Given the description of an element on the screen output the (x, y) to click on. 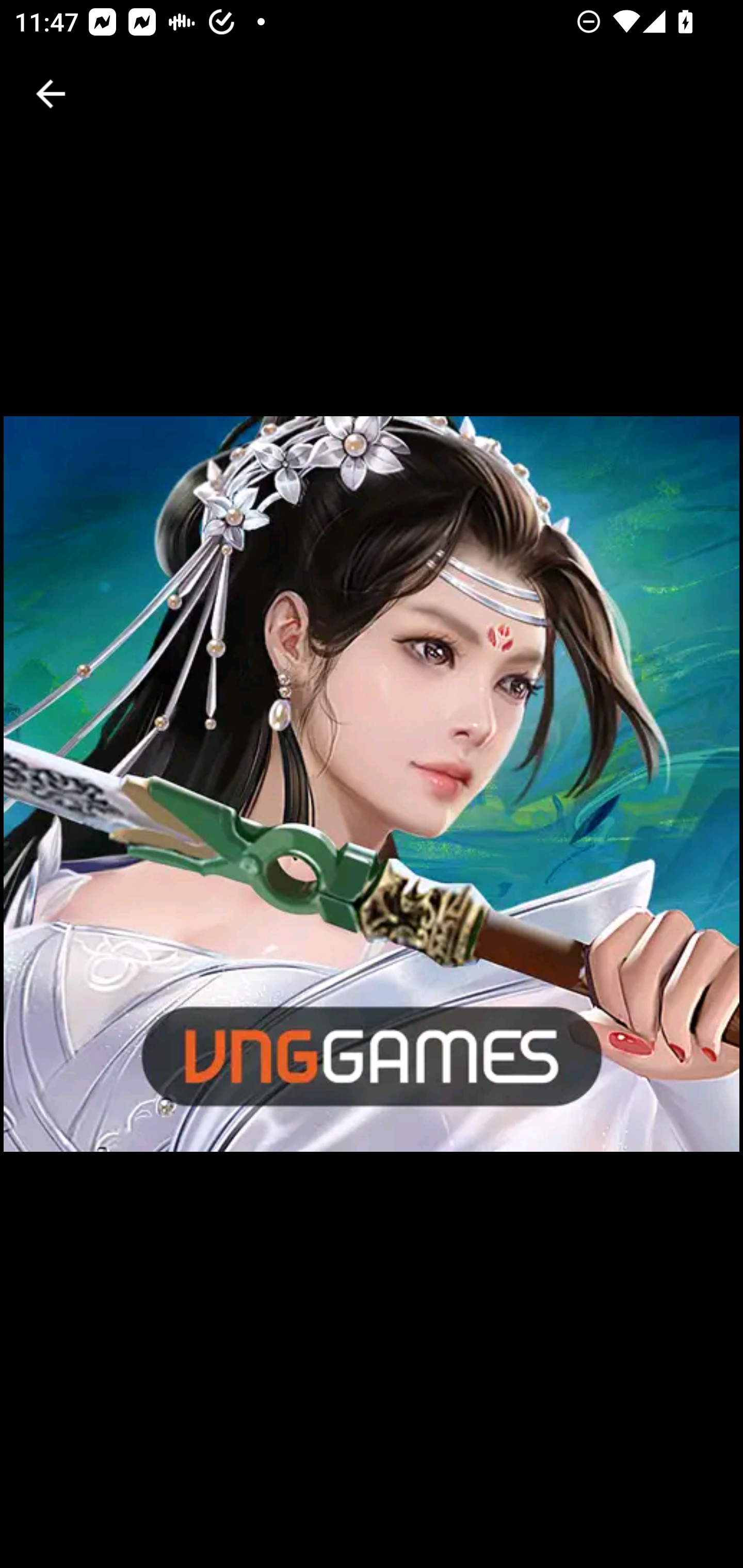
Back (50, 93)
